Given the description of an element on the screen output the (x, y) to click on. 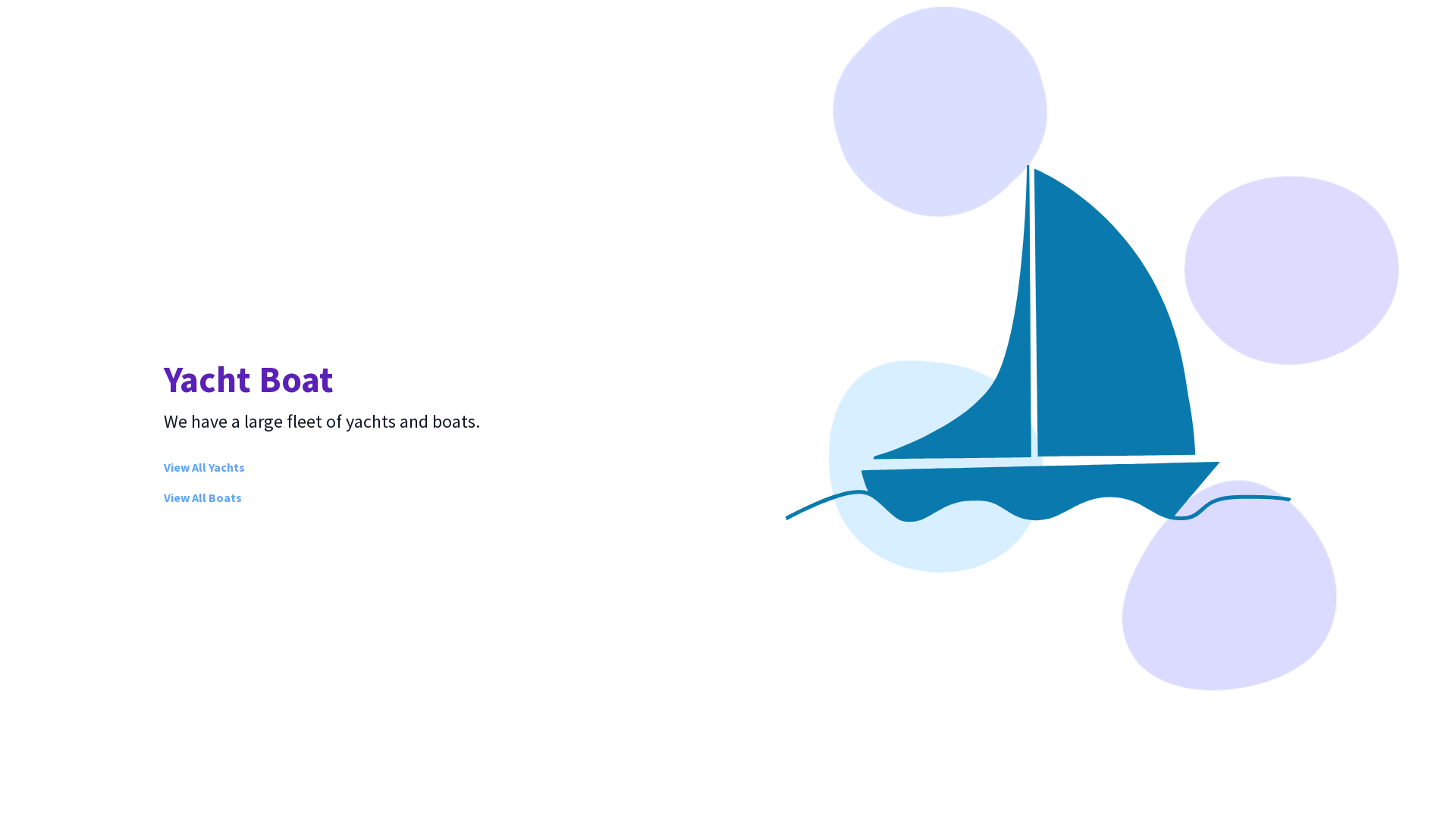
Yacht Boat Element type: text (248, 378)
View All Yachts Element type: text (203, 466)
View All Boats Element type: text (202, 497)
